Given the description of an element on the screen output the (x, y) to click on. 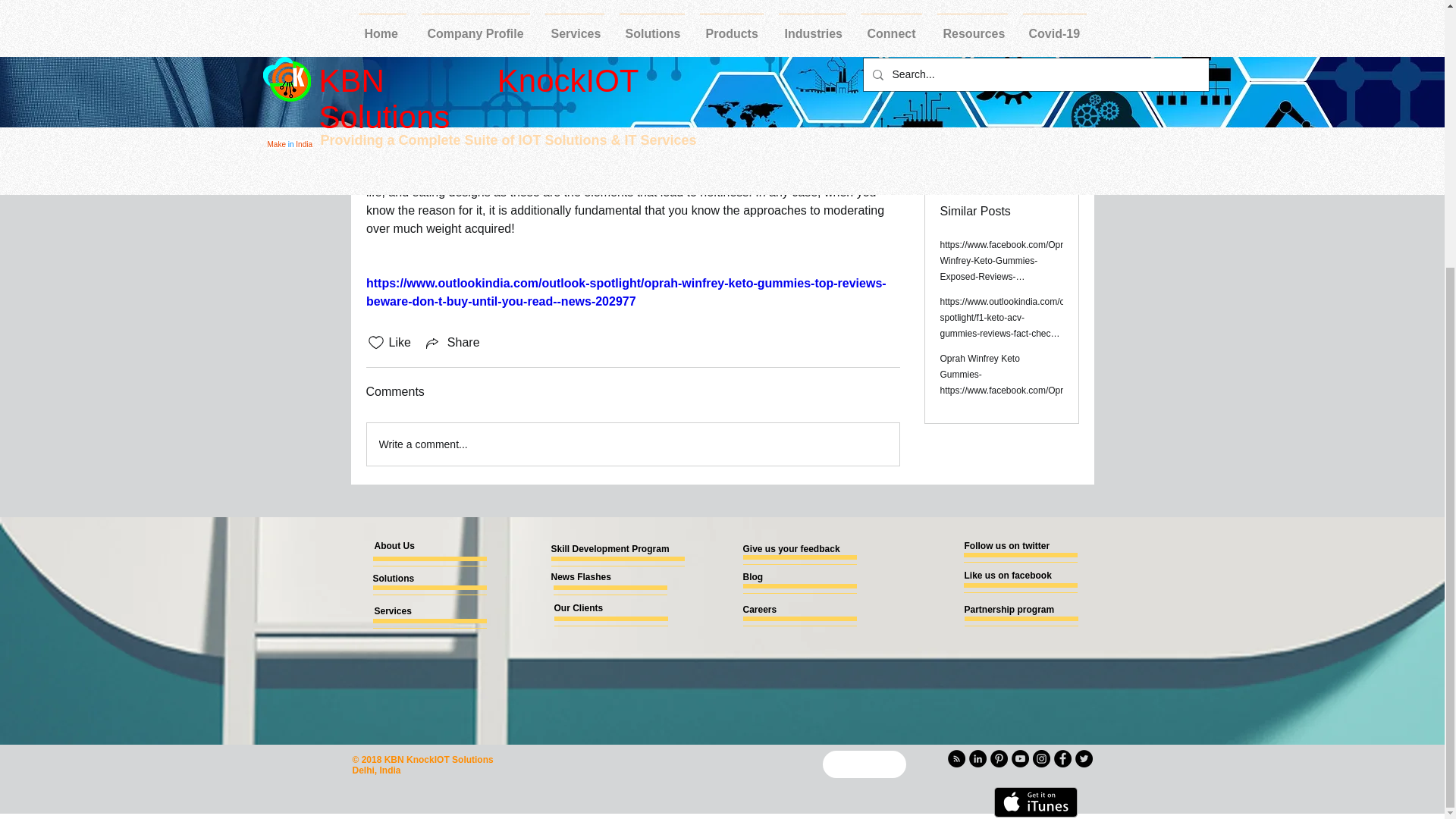
Get it on iTunes (1034, 802)
